Given the description of an element on the screen output the (x, y) to click on. 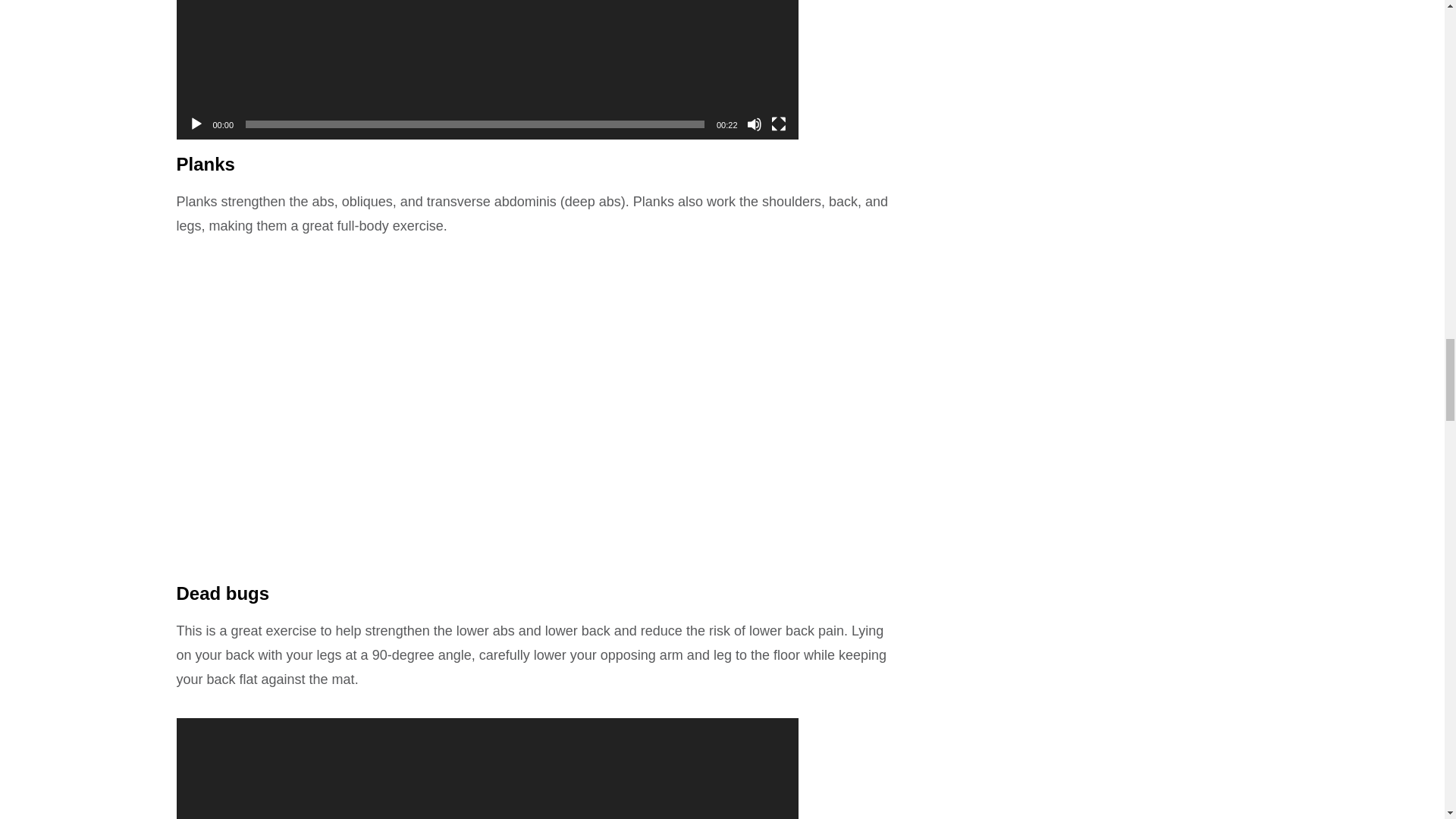
Mute (753, 124)
Fullscreen (778, 124)
Play (195, 124)
YouTube video player (387, 434)
